Given the description of an element on the screen output the (x, y) to click on. 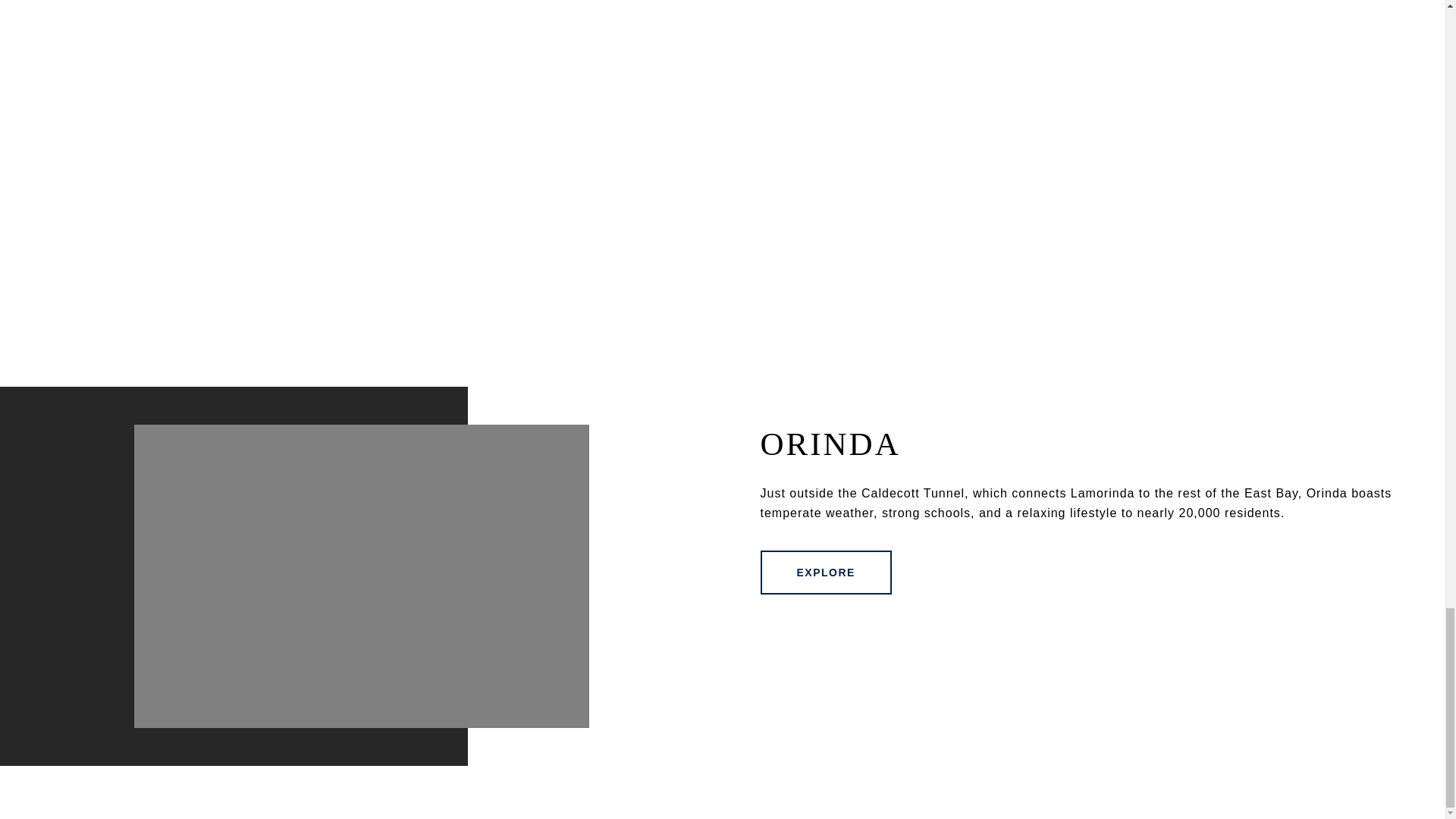
EXPLORE (825, 572)
